Given the description of an element on the screen output the (x, y) to click on. 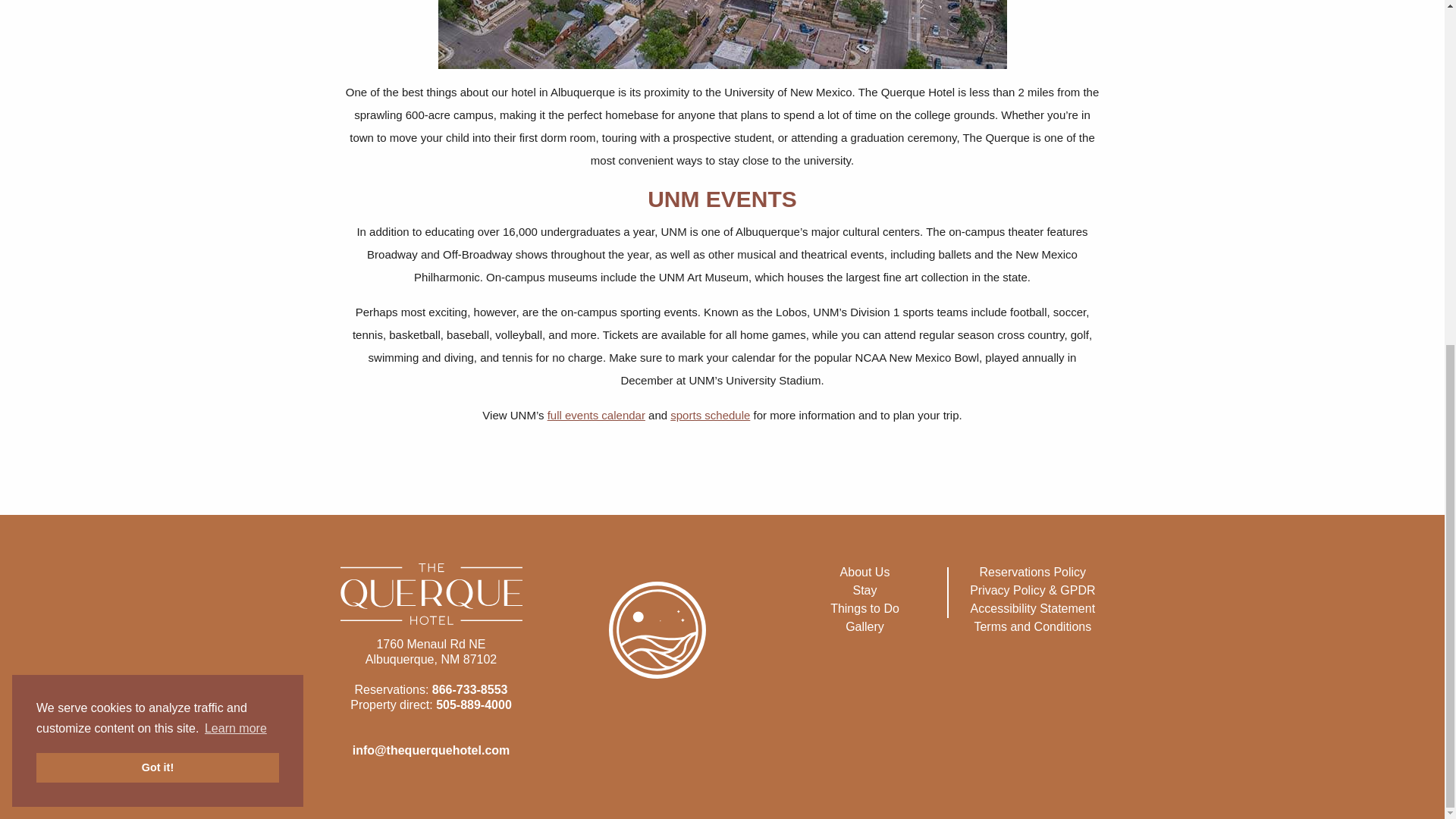
Terms and Conditions (1032, 626)
About Us (864, 571)
sports schedule (709, 414)
full events calendar (596, 414)
505-889-4000 (473, 704)
Accessibility Statement (1033, 608)
Stay (863, 590)
866-733-8553 (470, 689)
Learn more (235, 137)
Gallery (864, 626)
Reservations Policy (1032, 571)
Things to Do (864, 608)
Got it! (157, 175)
